Given the description of an element on the screen output the (x, y) to click on. 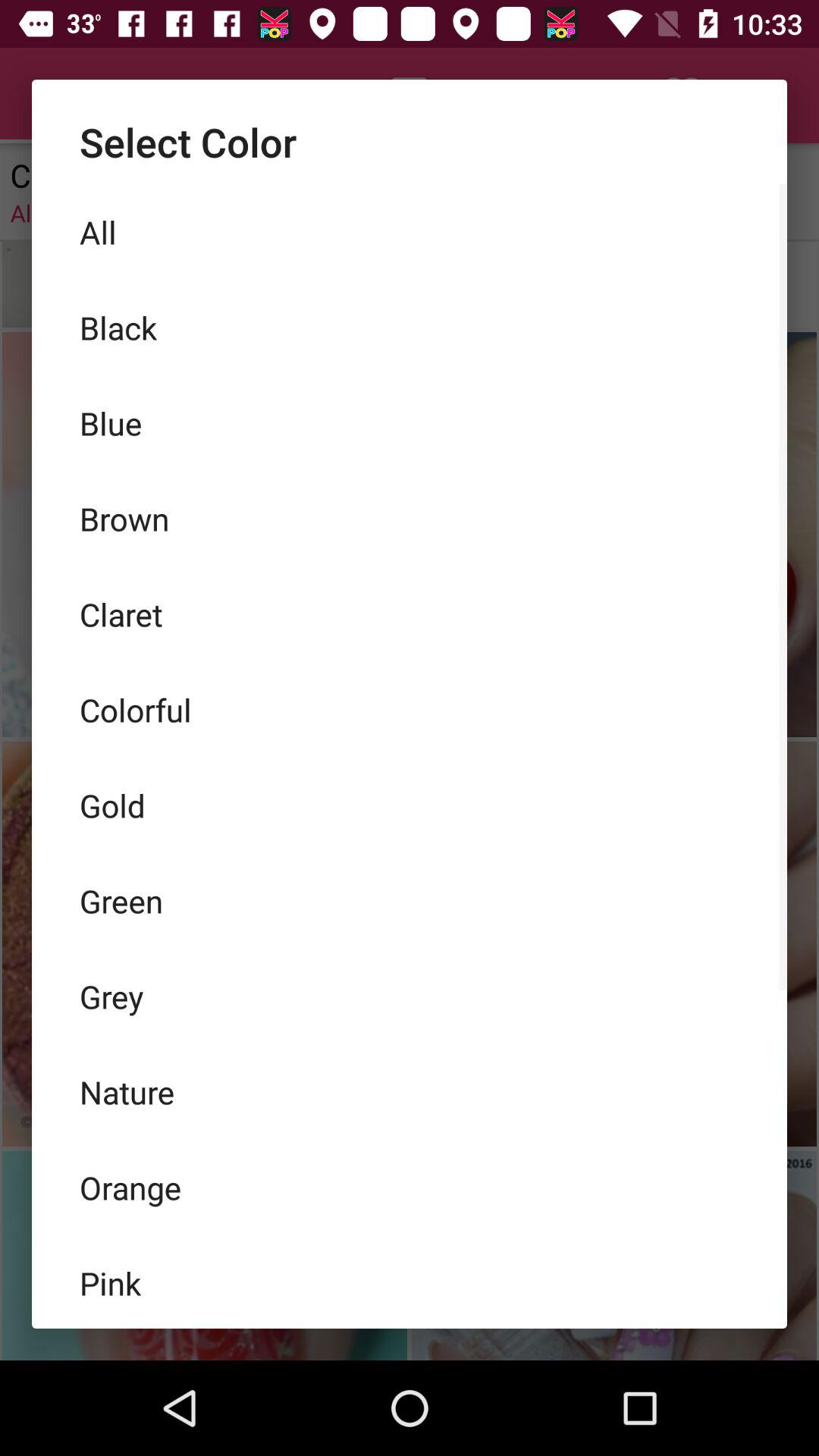
tap item below the blue icon (409, 518)
